Given the description of an element on the screen output the (x, y) to click on. 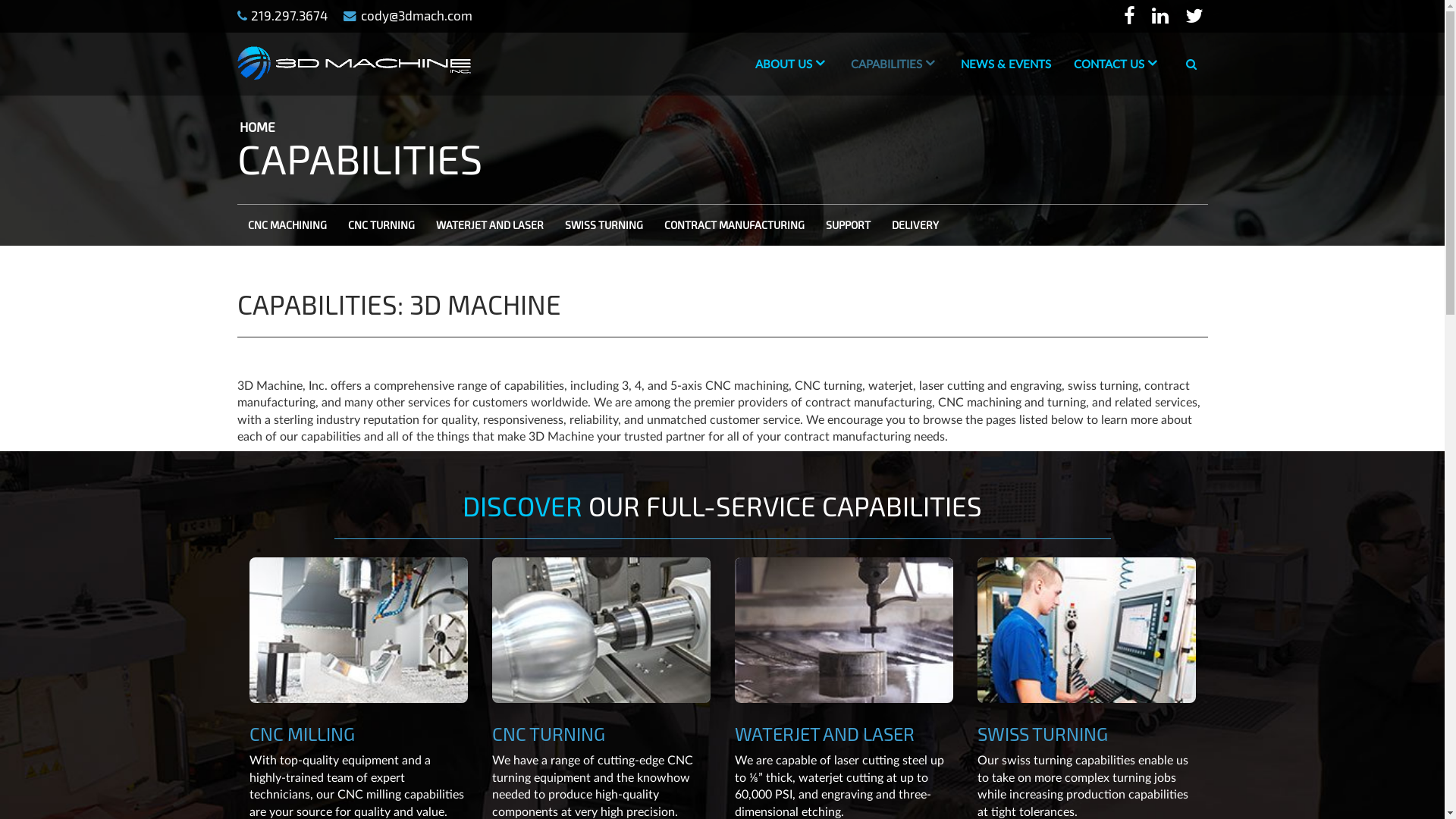
CONTRACT MANUFACTURING Element type: text (734, 224)
3D Machine, Inc. Element type: hover (353, 62)
NEWS & EVENTS Element type: text (1005, 64)
cody@3dmach.com Element type: text (407, 15)
CONTACT US Element type: text (1115, 63)
CAPABILITIES Element type: text (893, 63)
SUPPORT Element type: text (847, 224)
CNC MACHINING Element type: text (286, 224)
  Element type: text (1195, 16)
  Element type: text (1131, 16)
CNC TURNING Element type: text (381, 224)
ABOUT US Element type: text (790, 63)
219.297.3674 Element type: text (281, 15)
SWISS TURNING Element type: text (603, 224)
3D Machine, Inc. Element type: hover (353, 62)
HOME Element type: text (258, 126)
DELIVERY Element type: text (914, 224)
  Element type: text (1162, 16)
WATERJET AND LASER Element type: text (489, 224)
